Given the description of an element on the screen output the (x, y) to click on. 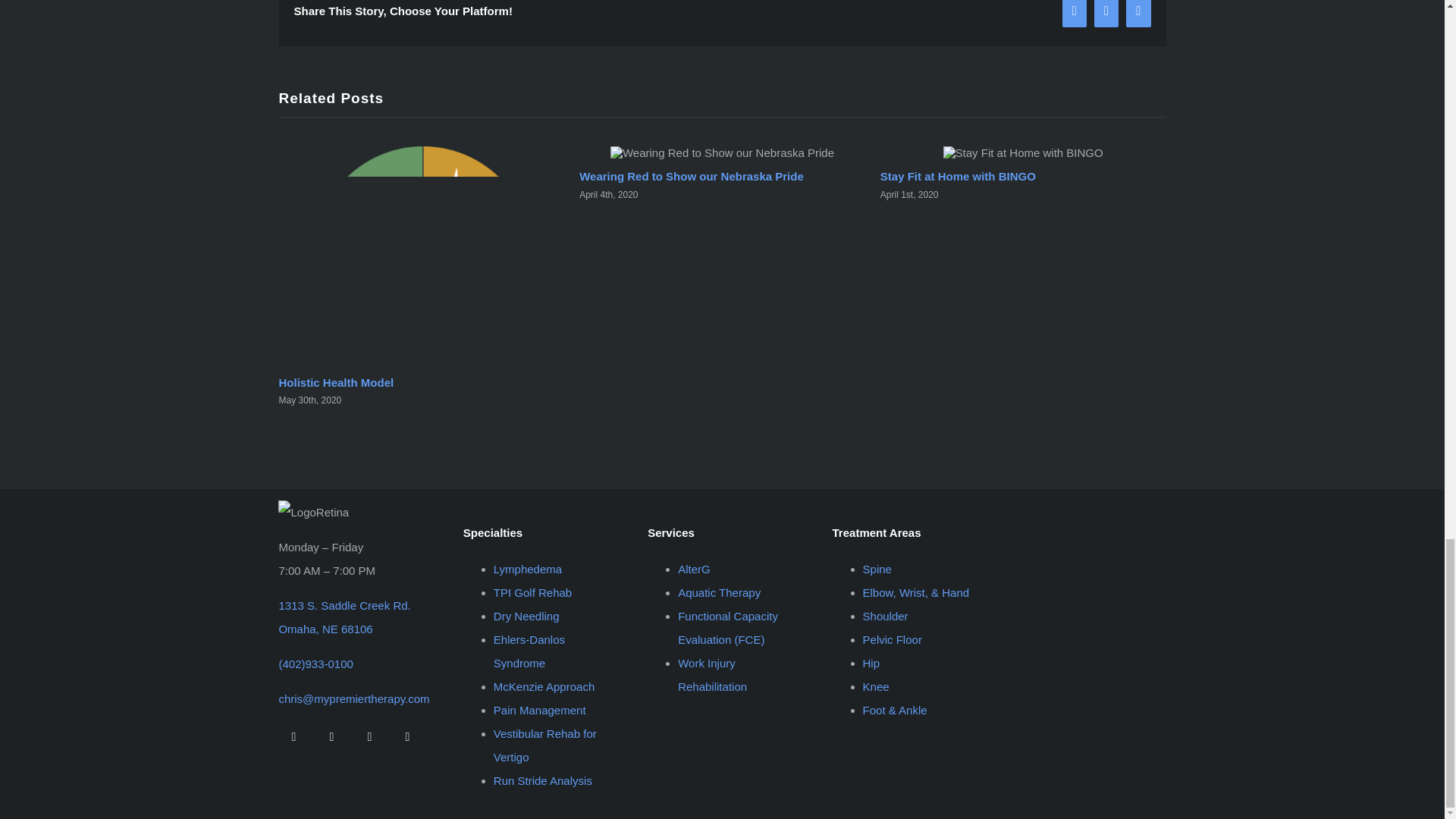
X (1106, 13)
Wearing Red to Show our Nebraska Pride (691, 175)
Holistic Health Model (336, 382)
X (368, 736)
Stay Fit at Home with BINGO (957, 175)
Instagram (330, 736)
Facebook (293, 736)
